Given the description of an element on the screen output the (x, y) to click on. 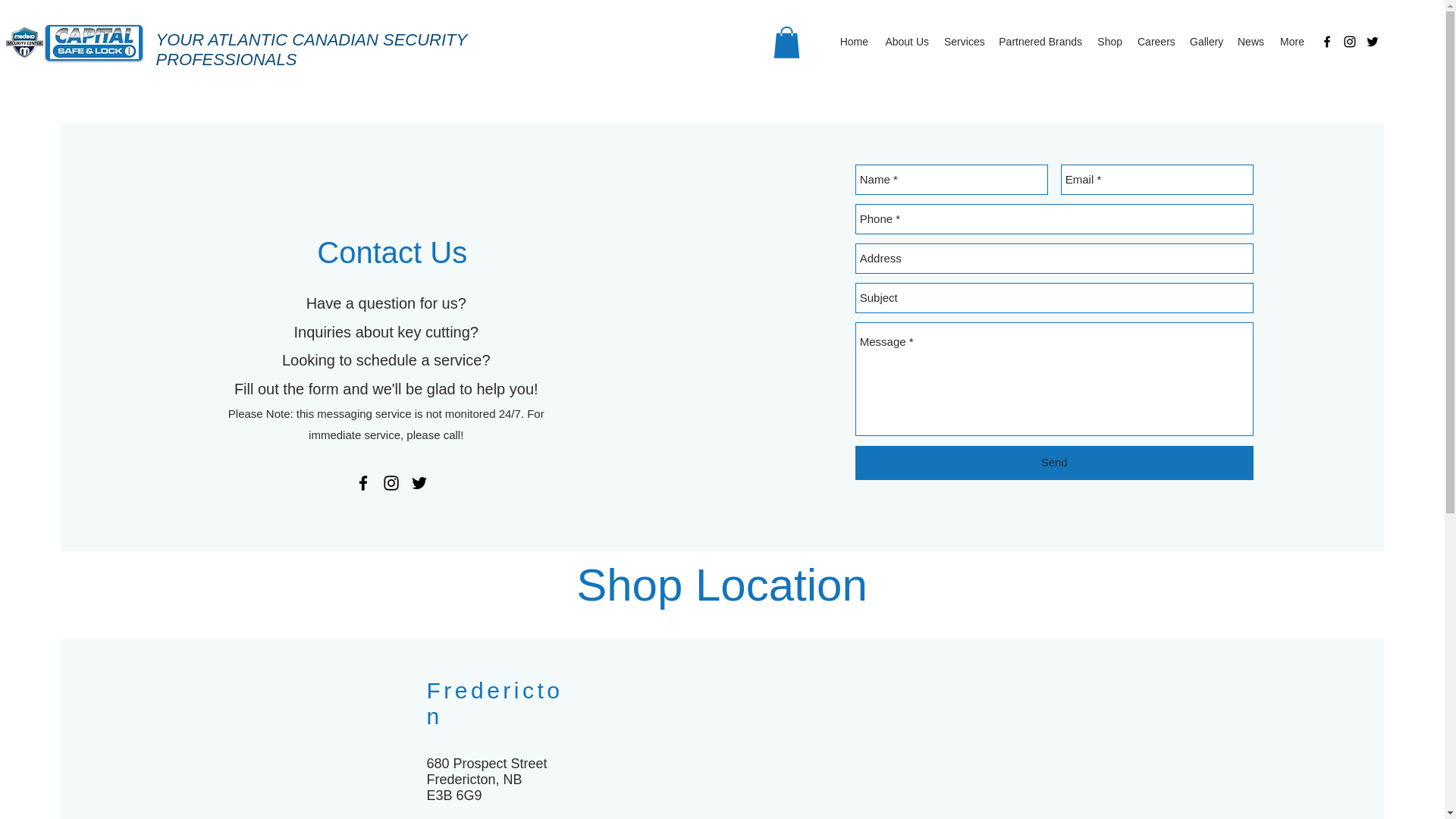
Partnered Brands (1039, 41)
About Us (906, 41)
Home (853, 41)
Services (963, 41)
Careers (1155, 41)
News (1250, 41)
Gallery (1206, 41)
Shop (1109, 41)
Send (1054, 462)
